Given the description of an element on the screen output the (x, y) to click on. 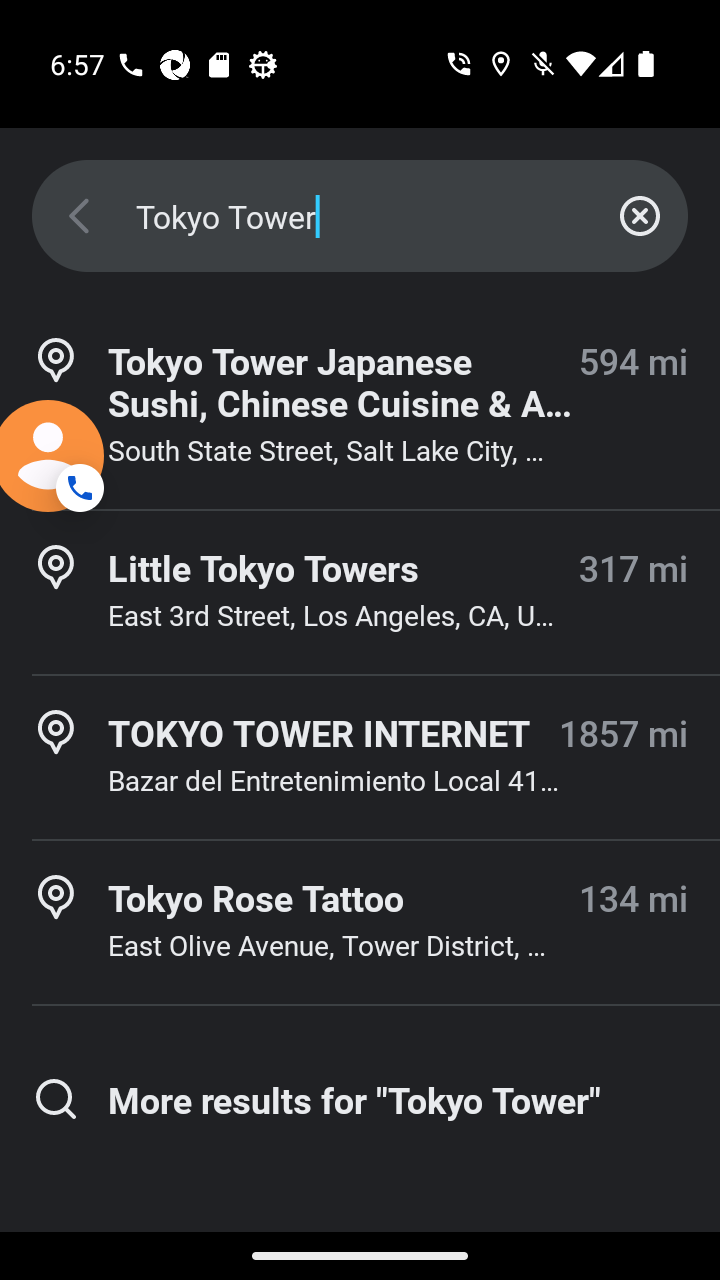
Tokyo Tower SEARCH_SCREEN_SEARCH_FIELD (359, 215)
More results for "Tokyo Tower" (360, 1099)
Big Ben Liquidation 5:33 h (360, 1260)
